Given the description of an element on the screen output the (x, y) to click on. 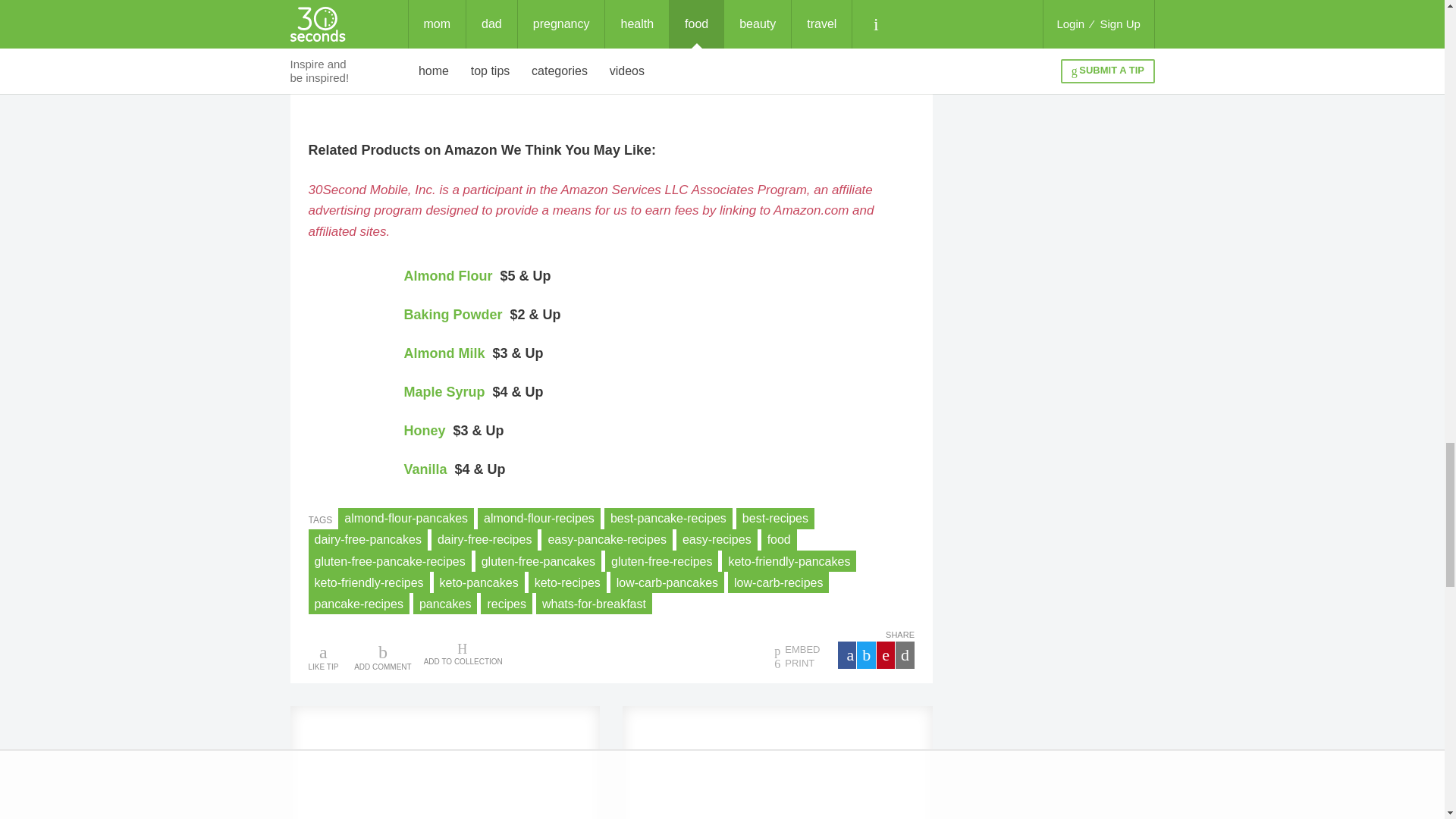
ADD COMMENT (382, 655)
